Given the description of an element on the screen output the (x, y) to click on. 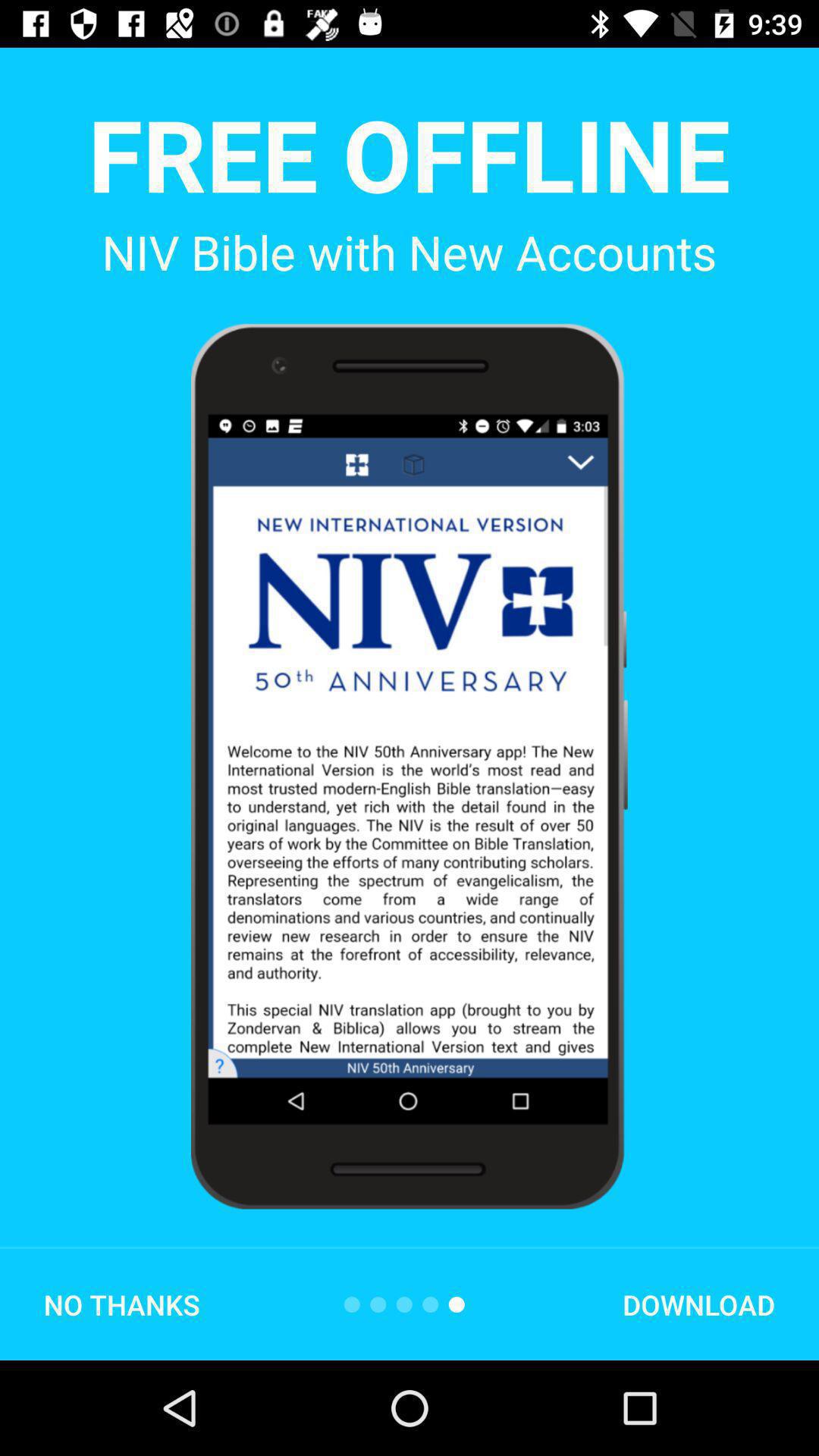
open free offline item (409, 153)
